Given the description of an element on the screen output the (x, y) to click on. 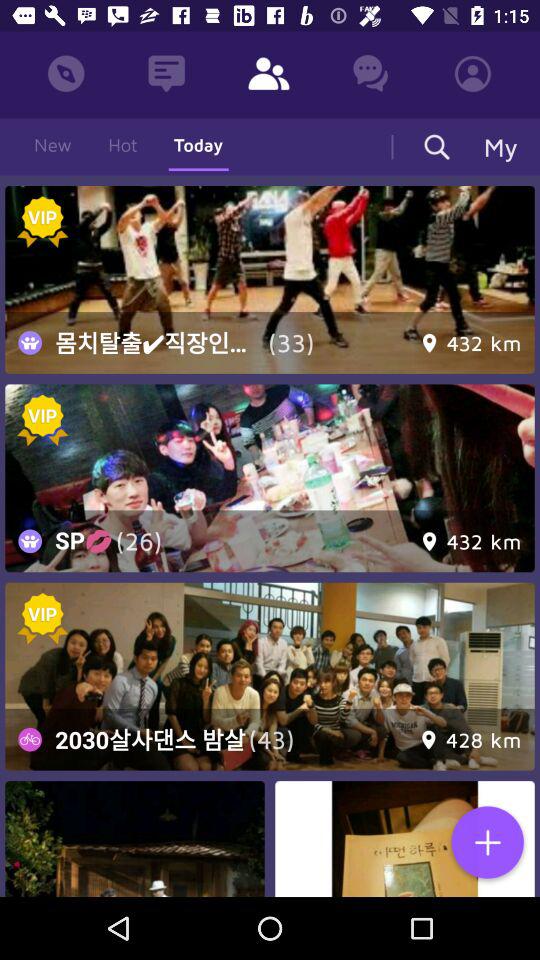
view image (269, 279)
